Given the description of an element on the screen output the (x, y) to click on. 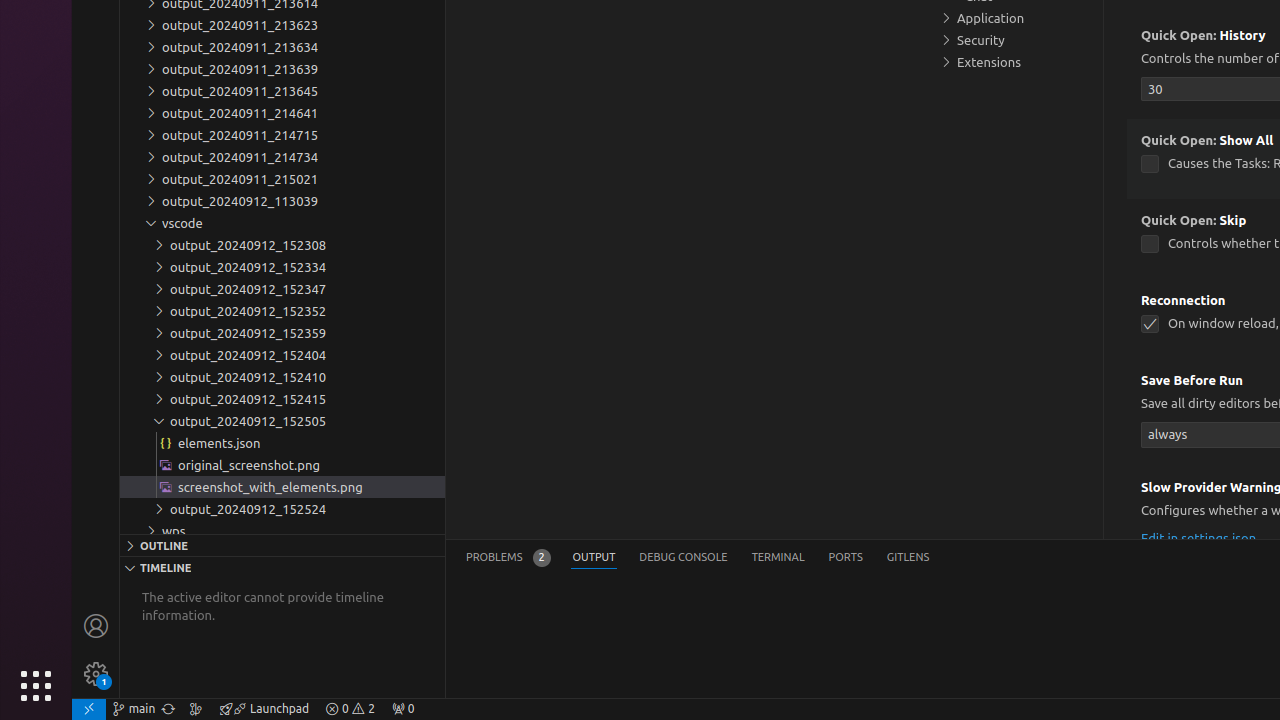
task.quickOpen.skip Element type: check-box (1150, 244)
No Ports Forwarded Element type: push-button (403, 709)
Manage - New Code update available. Element type: push-button (96, 674)
output_20240911_214734 Element type: tree-item (282, 157)
Warnings: 2 Element type: push-button (350, 709)
